Given the description of an element on the screen output the (x, y) to click on. 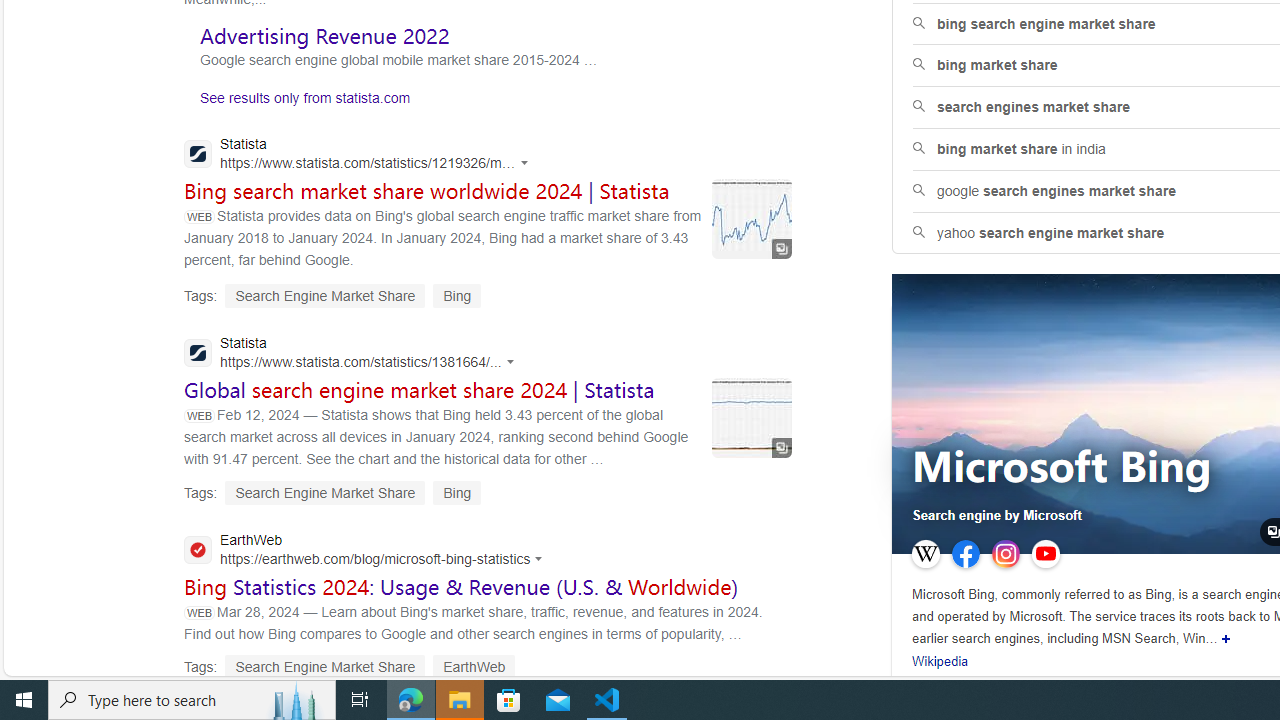
Bing search market share worldwide 2024 | Statista (426, 190)
See results only from statista.com (297, 102)
Tags: Search Engine Market Share Bing (333, 492)
Show more (1226, 638)
Advertising Revenue 2022 (324, 35)
Actions for this site (541, 558)
YouTube (1045, 554)
Instagram (1006, 554)
Global search engine market share 2024 | Statista (419, 390)
Global web icon (197, 550)
Bing Statistics 2024: Usage & Revenue (U.S. & Worldwide) (461, 586)
Facebook (966, 554)
Microsoft Bing (1061, 468)
